Given the description of an element on the screen output the (x, y) to click on. 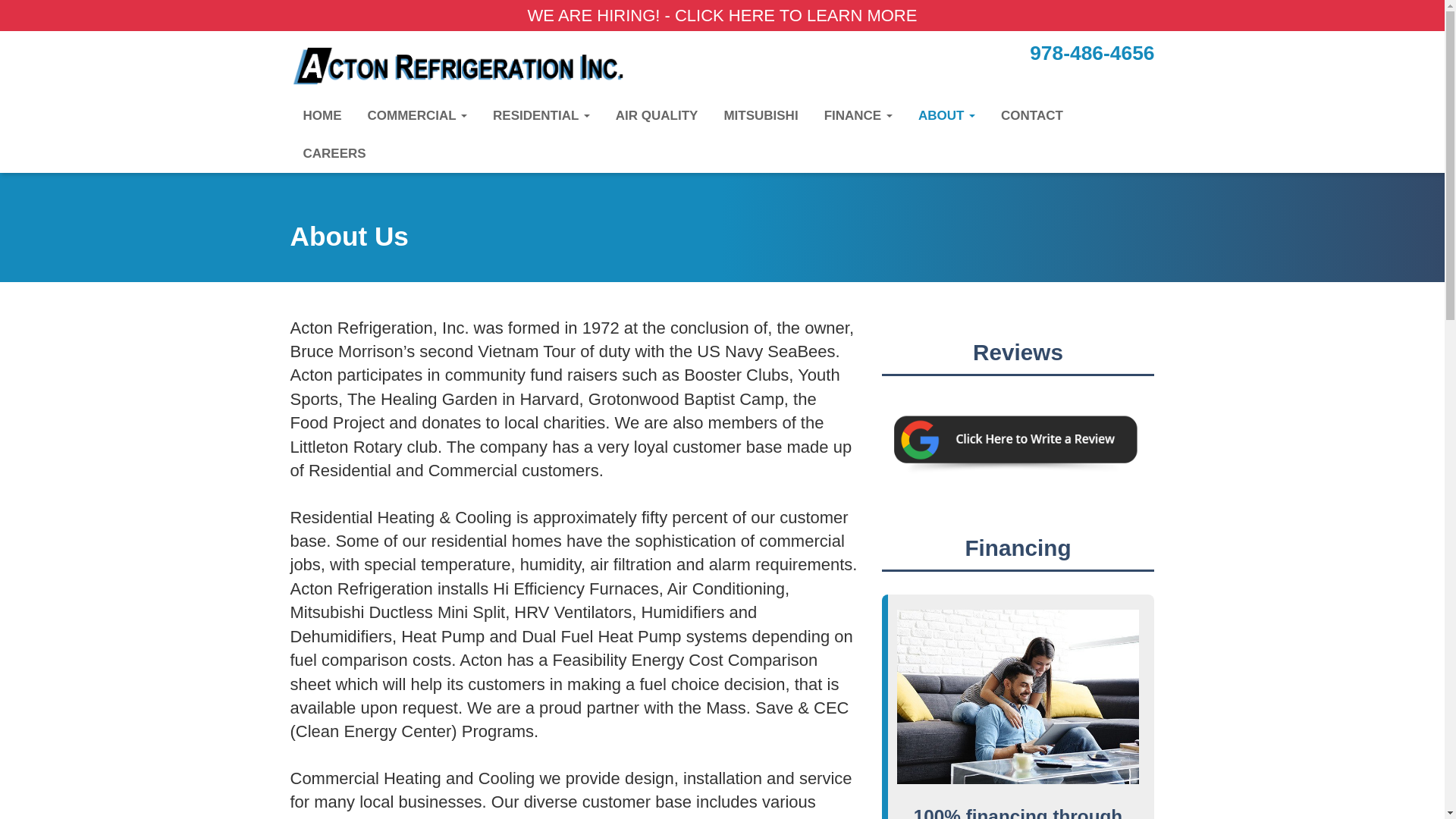
FINANCE (857, 116)
AIR QUALITY (656, 116)
ABOUT (946, 116)
MITSUBISHI (760, 116)
HOME (321, 116)
COMMERCIAL (417, 116)
CONTACT (1031, 116)
978-486-4656 (1091, 52)
CAREERS (333, 153)
RESIDENTIAL (541, 116)
